Given the description of an element on the screen output the (x, y) to click on. 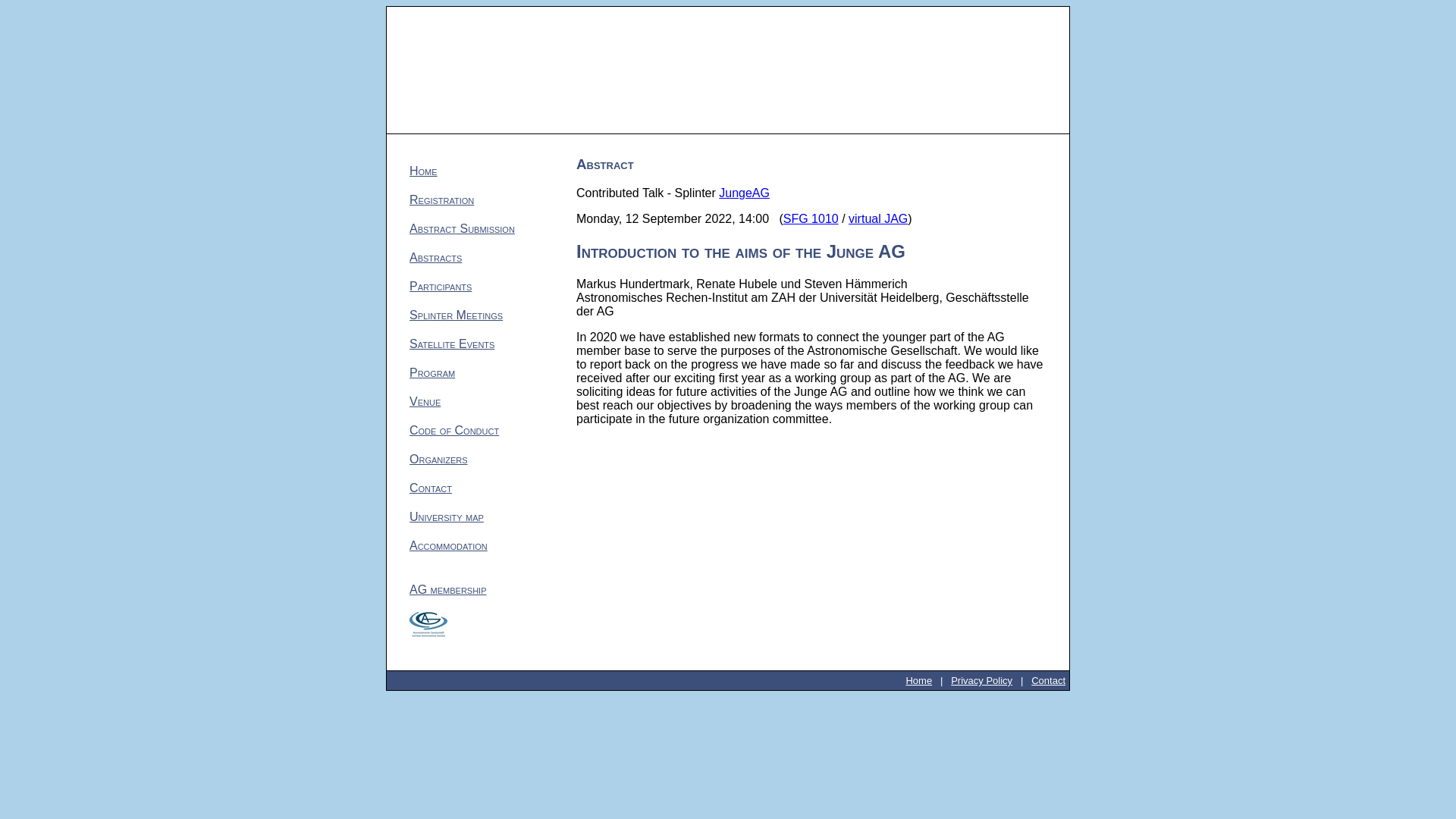
SFG 1010 (810, 218)
Program (431, 372)
University map (446, 516)
Satellite Events (452, 343)
AG membership (447, 589)
Code of Conduct (454, 430)
Participants (440, 286)
Abstract Submission (462, 228)
Splinter Meetings (455, 314)
Venue (425, 400)
